Given the description of an element on the screen output the (x, y) to click on. 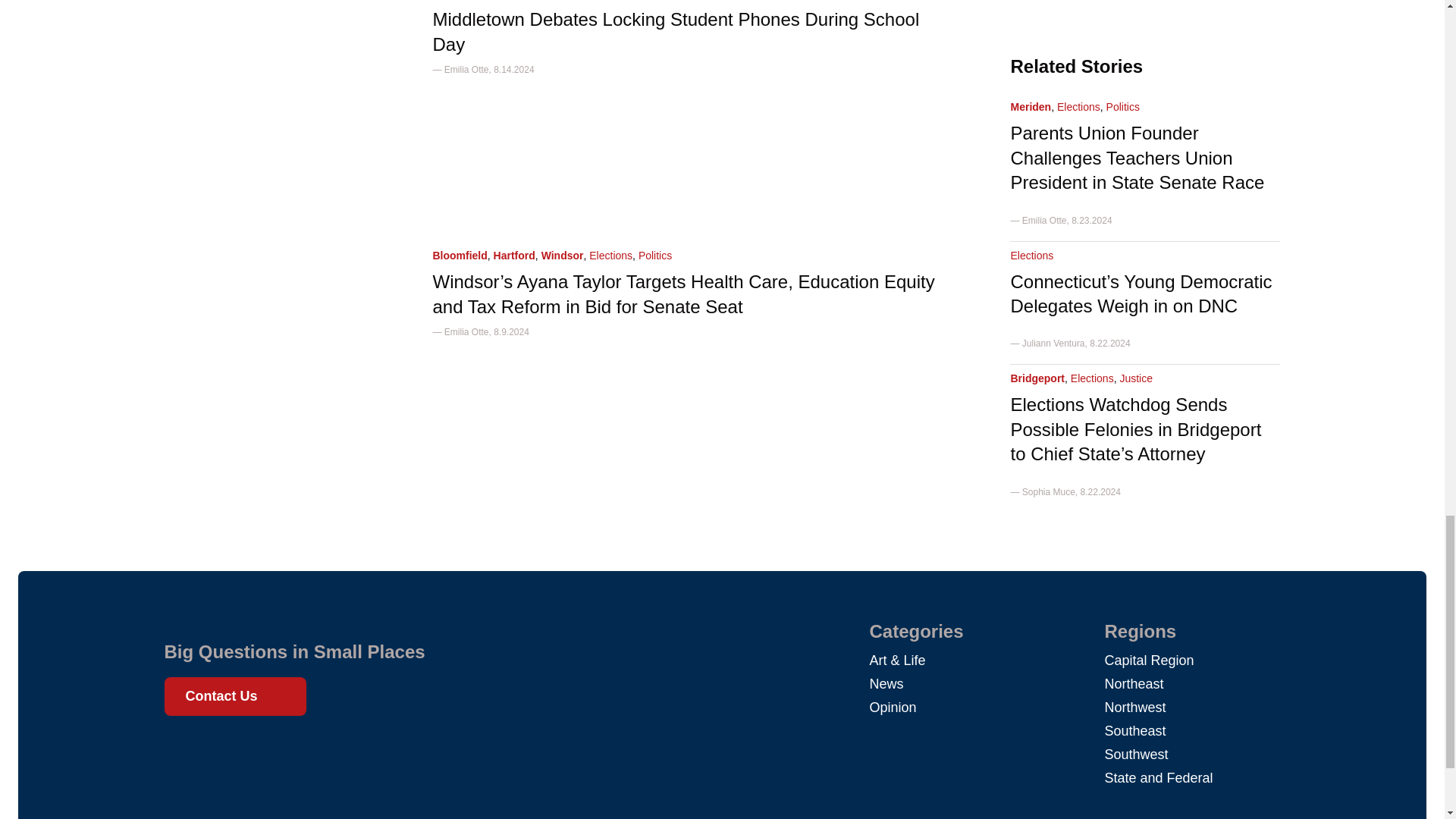
instagram (238, 750)
twitter (210, 750)
facebook (183, 750)
